Given the description of an element on the screen output the (x, y) to click on. 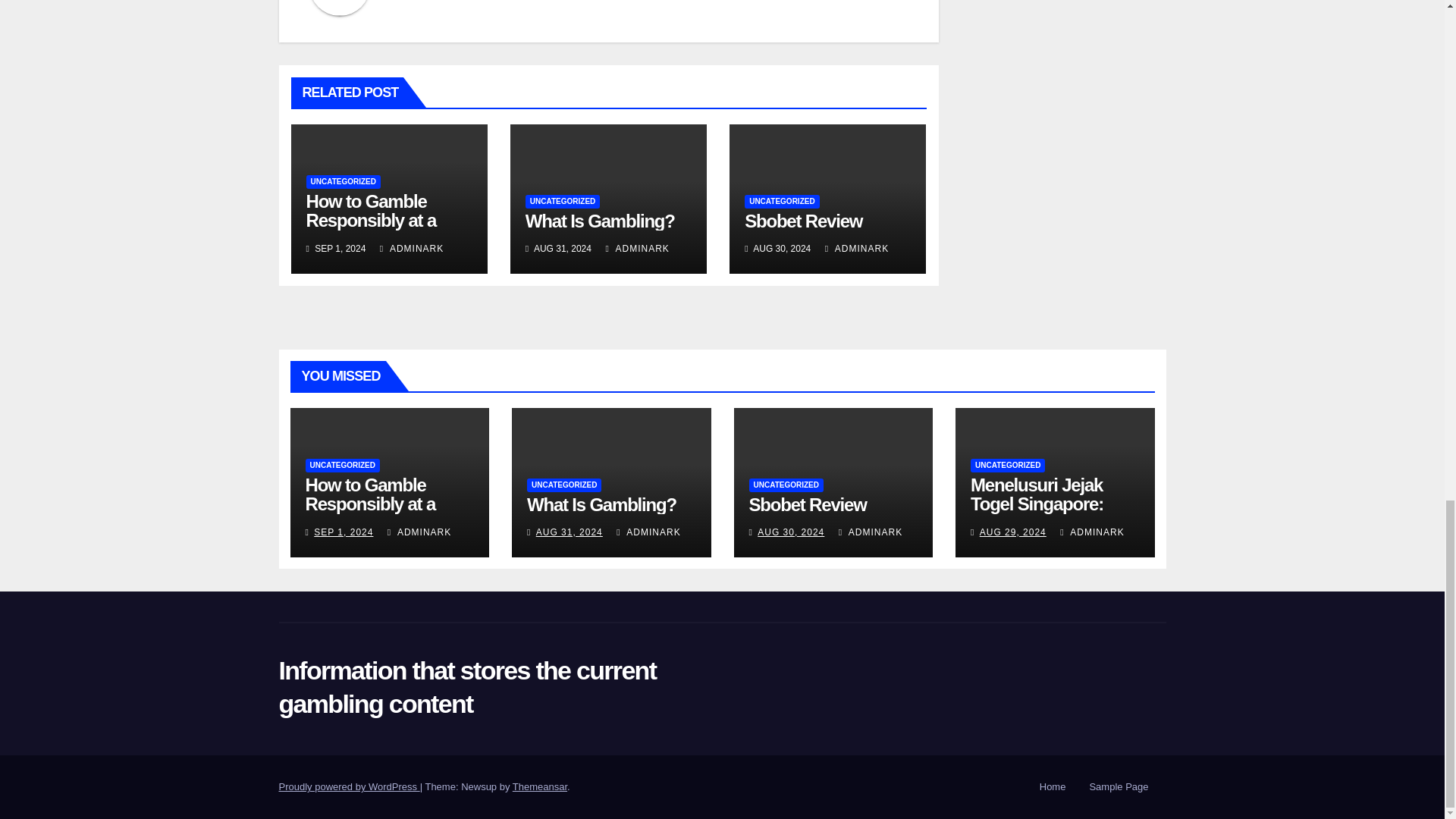
ADMINARK (856, 248)
Permalink to: What Is Gambling? (600, 220)
How to Gamble Responsibly at a Casino (370, 219)
ADMINARK (412, 248)
UNCATEGORIZED (562, 201)
Sbobet Review (802, 220)
Permalink to: What Is Gambling? (602, 504)
ADMINARK (636, 248)
Home (1052, 786)
UNCATEGORIZED (781, 201)
